Given the description of an element on the screen output the (x, y) to click on. 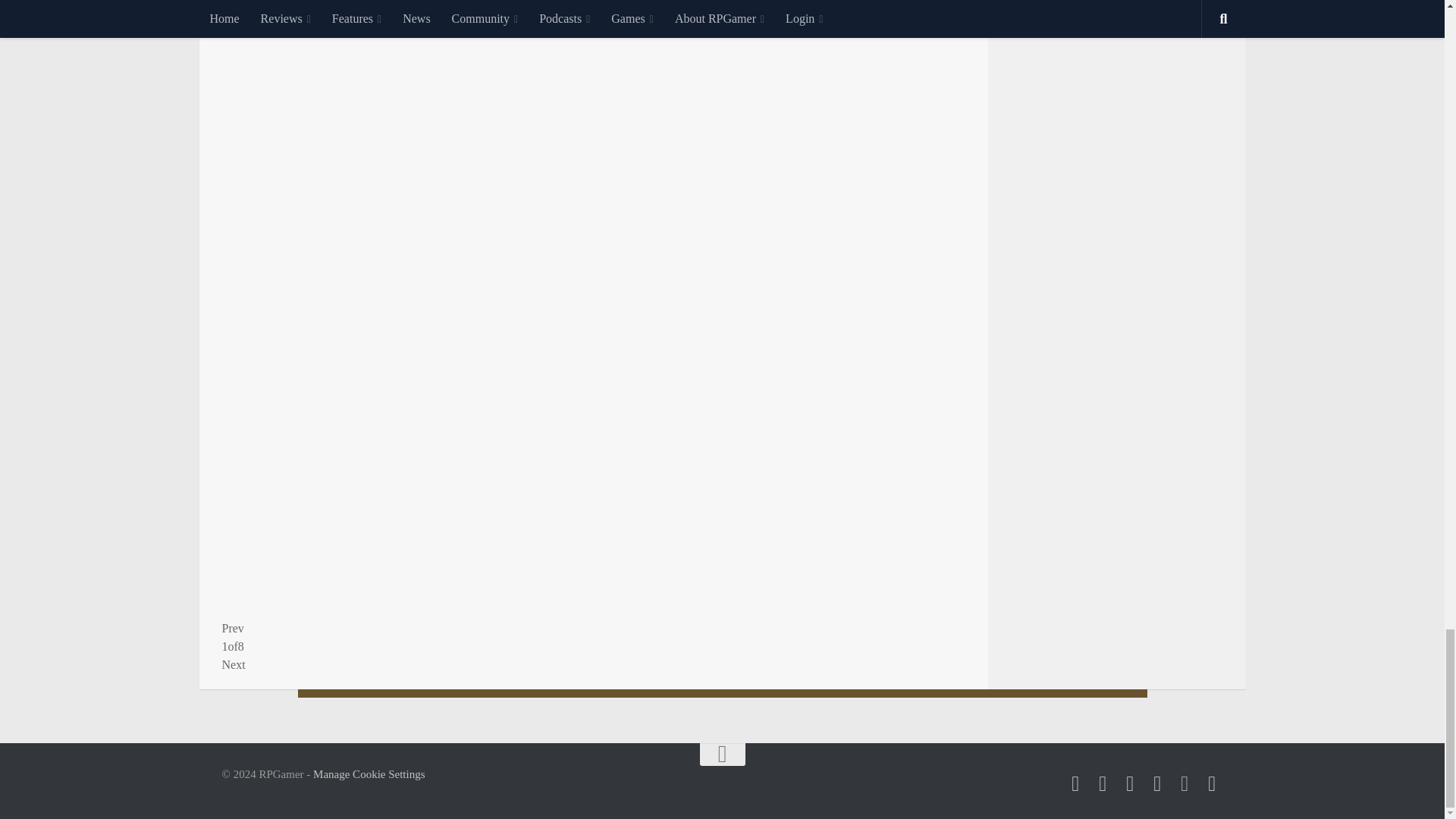
Follow us on Twitter (1075, 783)
Follow us on Facebook (1102, 783)
